Given the description of an element on the screen output the (x, y) to click on. 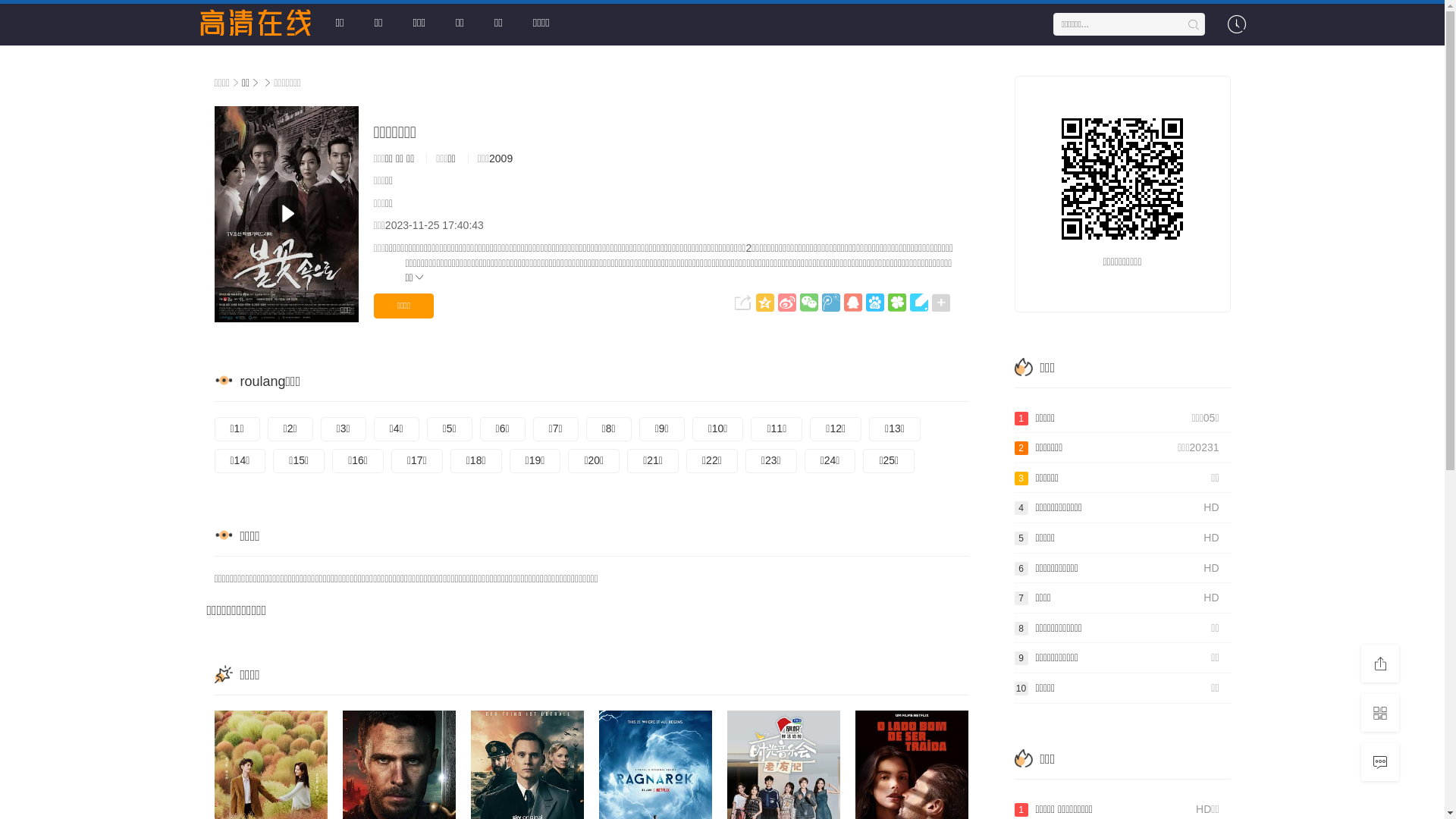
http://28zy.com/a/liuxingfaxing/diy/20191118/39966.html Element type: hover (1121, 178)
2009 Element type: text (500, 158)
